Given the description of an element on the screen output the (x, y) to click on. 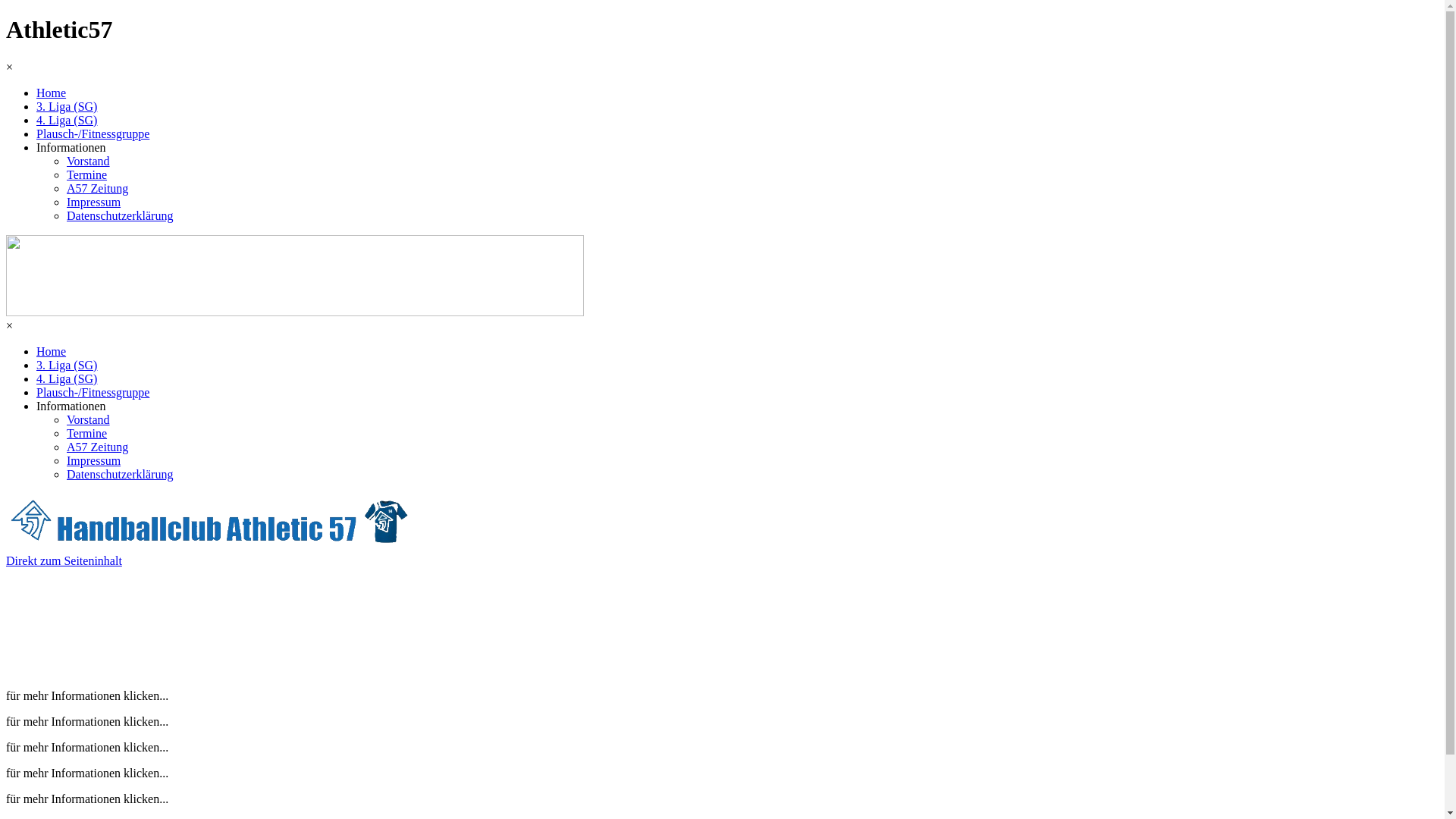
3. Liga (SG) Element type: text (66, 364)
4. Liga (SG) Element type: text (66, 119)
Direkt zum Seiteninhalt Element type: text (64, 560)
Plausch-/Fitnessgruppe Element type: text (92, 133)
Vorstand Element type: text (87, 160)
4. Liga (SG) Element type: text (66, 378)
Vorstand Element type: text (87, 419)
Plausch-/Fitnessgruppe Element type: text (92, 391)
Impressum Element type: text (93, 460)
Termine Element type: text (86, 174)
Impressum Element type: text (93, 201)
A57 Zeitung Element type: text (97, 188)
3. Liga (SG) Element type: text (66, 106)
Home Element type: text (50, 92)
Home Element type: text (50, 351)
Termine Element type: text (86, 432)
A57 Zeitung Element type: text (97, 446)
